Given the description of an element on the screen output the (x, y) to click on. 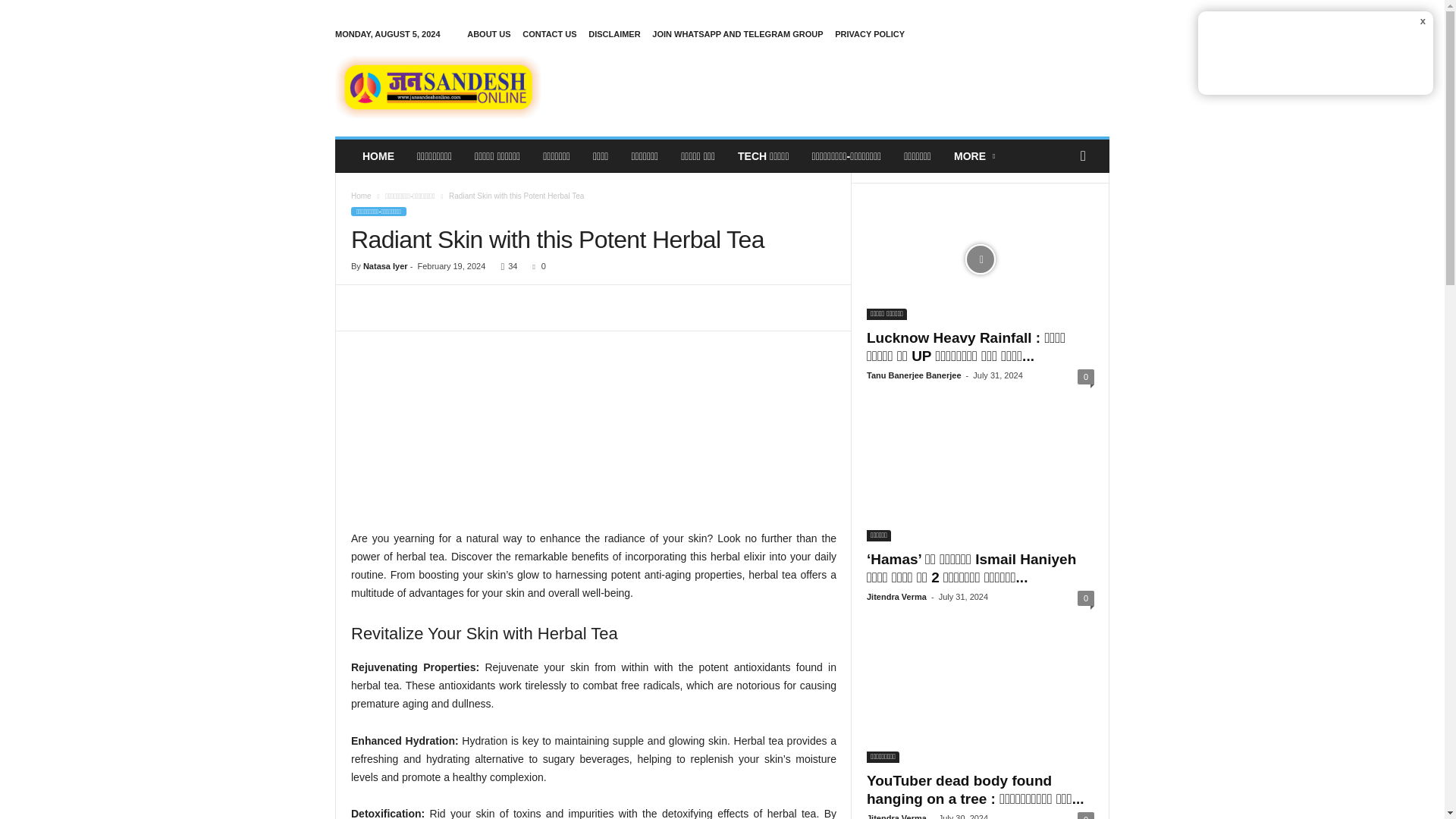
PRIVACY POLICY (869, 33)
Jansandeshonline Hindi news (437, 87)
CONTACT US (549, 33)
ABOUT US (489, 33)
JOIN WHATSAPP AND TELEGRAM GROUP (737, 33)
DISCLAIMER (614, 33)
HOME (378, 155)
